Given the description of an element on the screen output the (x, y) to click on. 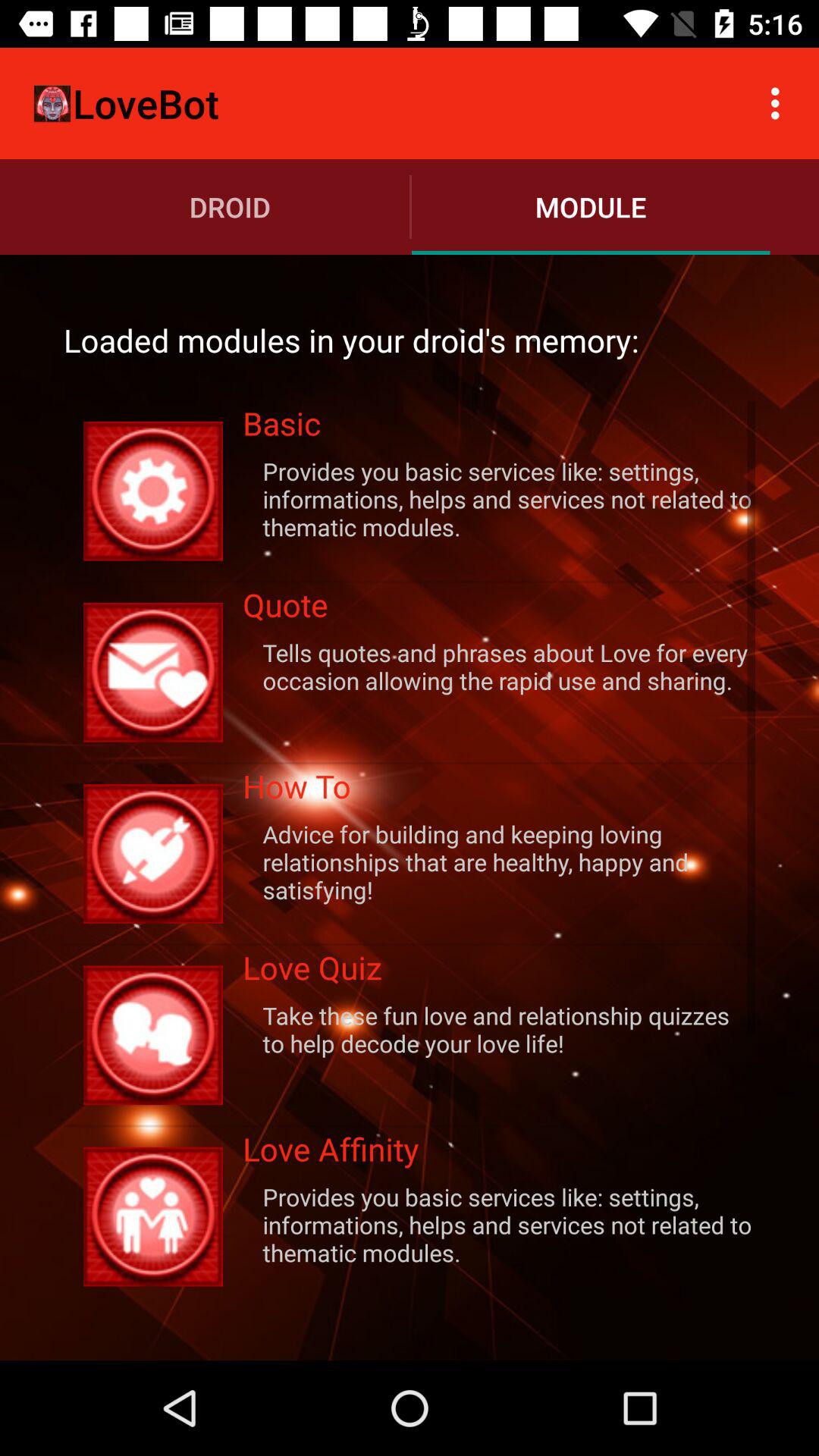
flip to the advice for building icon (498, 861)
